Given the description of an element on the screen output the (x, y) to click on. 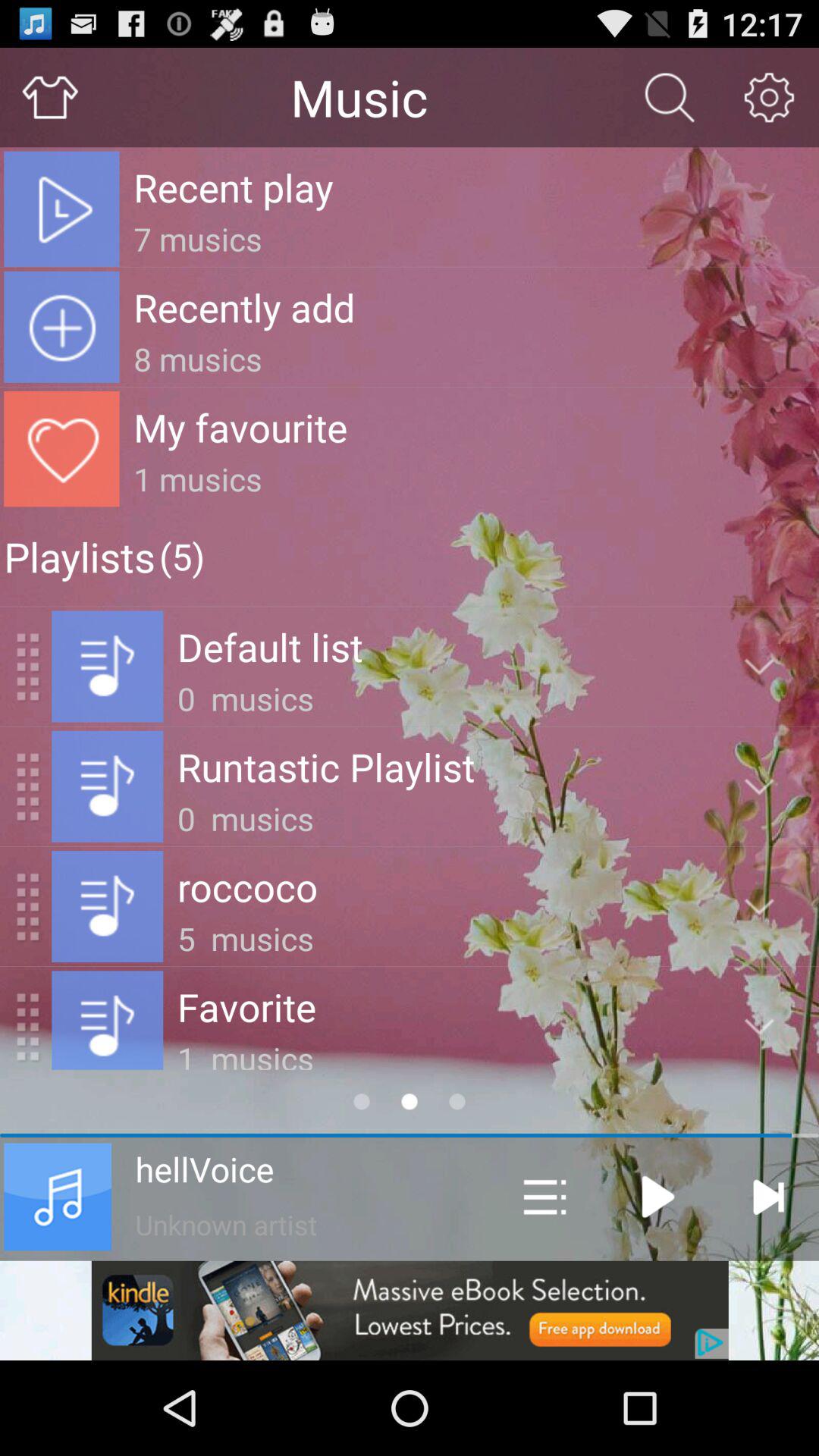
select play icon beside recent play (61, 208)
